Given the description of an element on the screen output the (x, y) to click on. 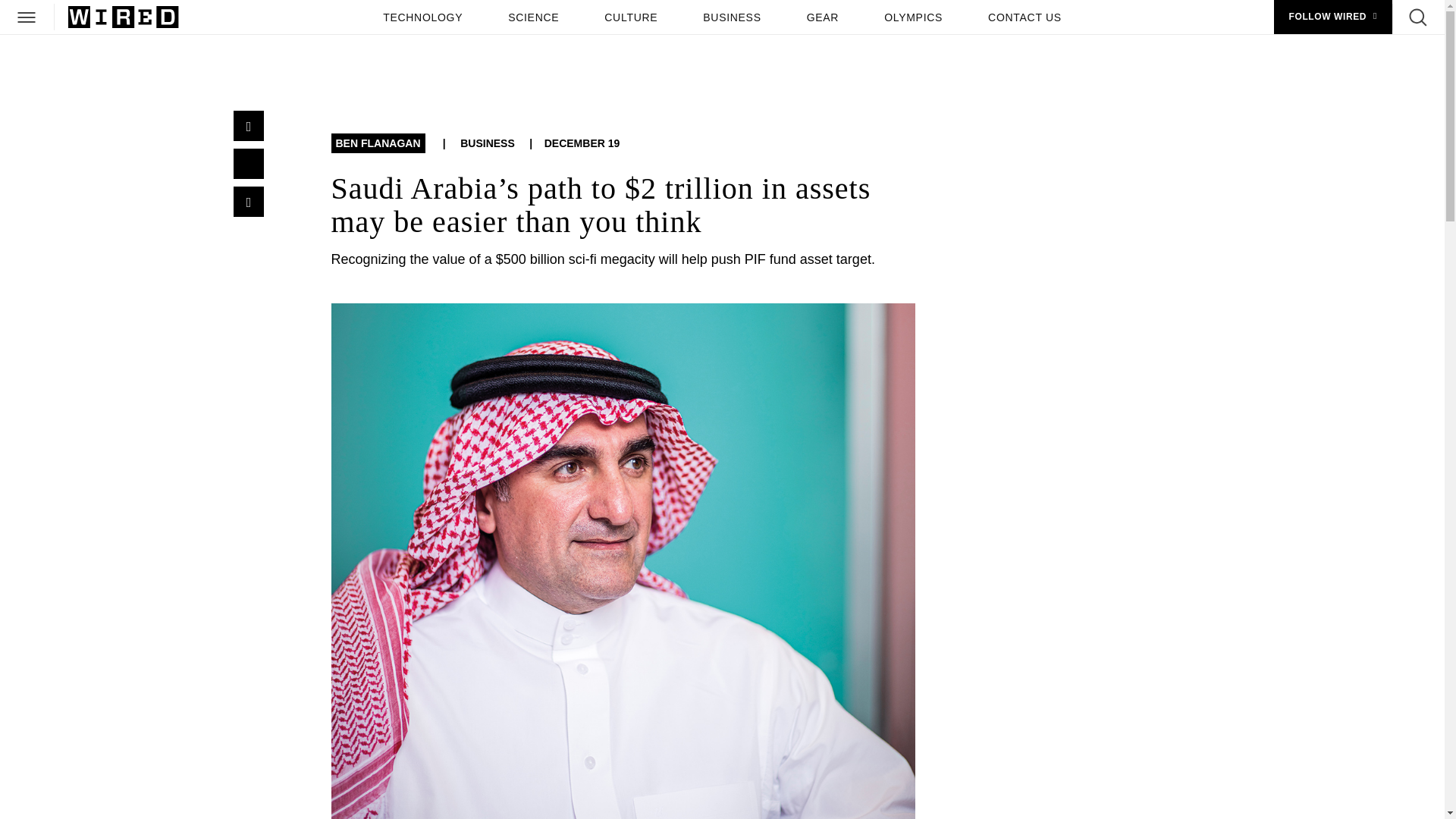
TECHNOLOGY (422, 17)
BUSINESS (731, 17)
Posts by Ben Flanagan (377, 143)
OLYMPICS (913, 17)
CULTURE (630, 17)
GEAR (822, 17)
CONTACT US (1023, 17)
SCIENCE (533, 17)
BEN FLANAGAN (377, 143)
